Given the description of an element on the screen output the (x, y) to click on. 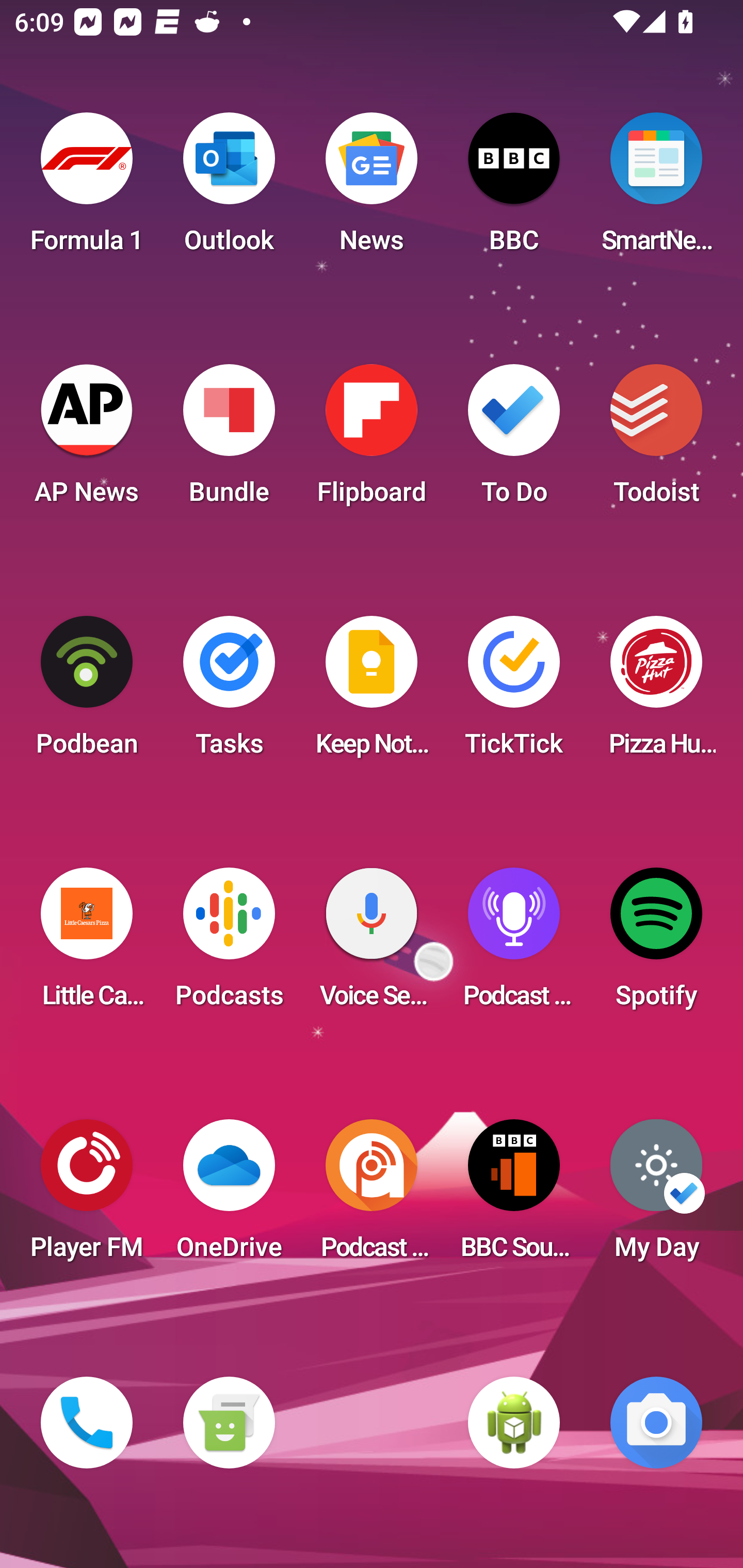
Formula 1 (86, 188)
Outlook (228, 188)
News (371, 188)
BBC (513, 188)
SmartNews (656, 188)
AP News (86, 440)
Bundle (228, 440)
Flipboard (371, 440)
To Do (513, 440)
Todoist (656, 440)
Podbean (86, 692)
Tasks (228, 692)
Keep Notes (371, 692)
TickTick (513, 692)
Pizza Hut HK & Macau (656, 692)
Little Caesars Pizza (86, 943)
Podcasts (228, 943)
Voice Search (371, 943)
Podcast Player (513, 943)
Spotify (656, 943)
Player FM (86, 1195)
OneDrive (228, 1195)
Podcast Addict (371, 1195)
BBC Sounds (513, 1195)
My Day (656, 1195)
Phone (86, 1422)
Messaging (228, 1422)
WebView Browser Tester (513, 1422)
Camera (656, 1422)
